Given the description of an element on the screen output the (x, y) to click on. 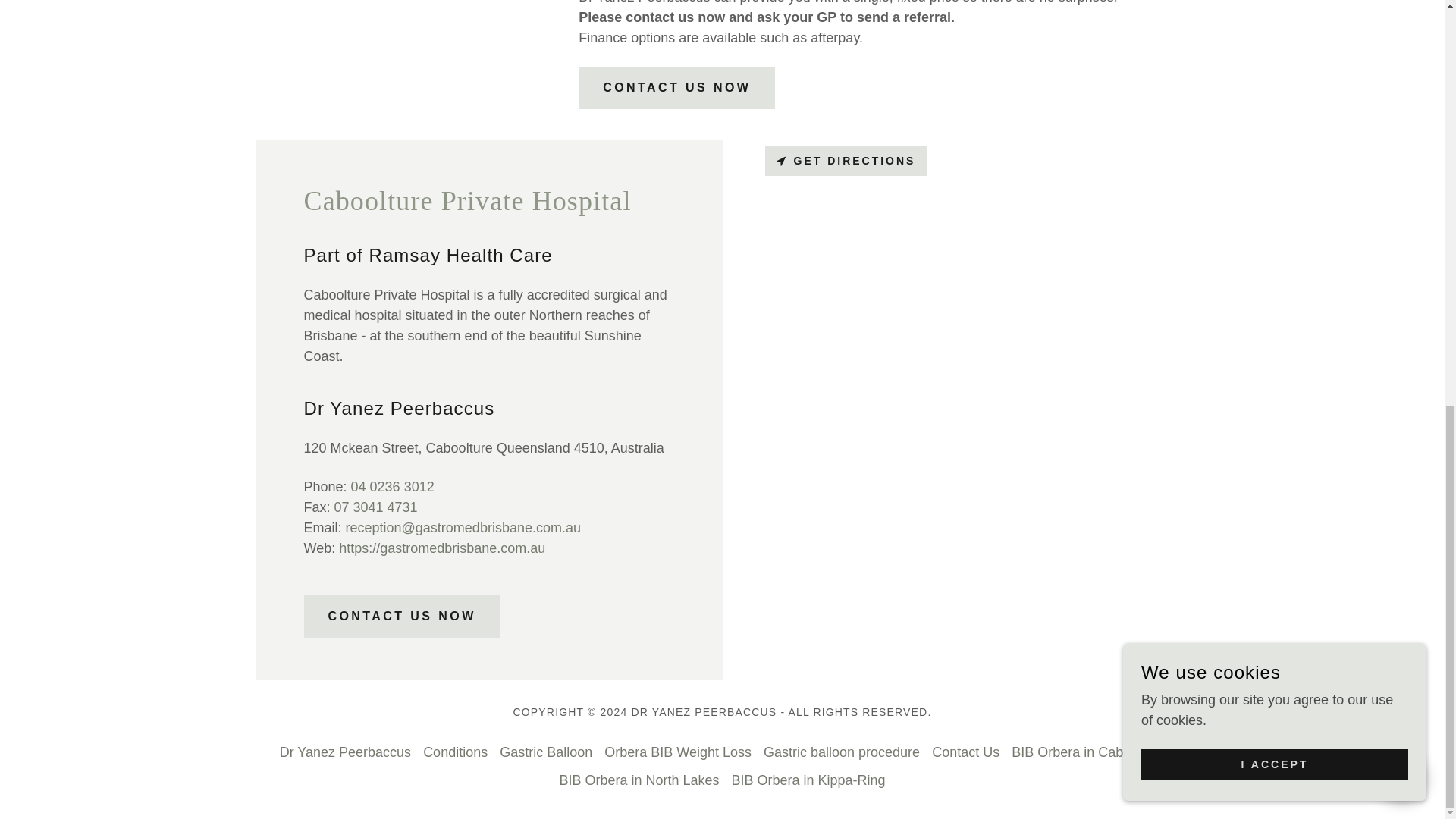
CONTACT US NOW (400, 616)
07 3041 4731 (375, 507)
GET DIRECTIONS (845, 160)
CONTACT US NOW (676, 87)
04 0236 3012 (391, 486)
